Given the description of an element on the screen output the (x, y) to click on. 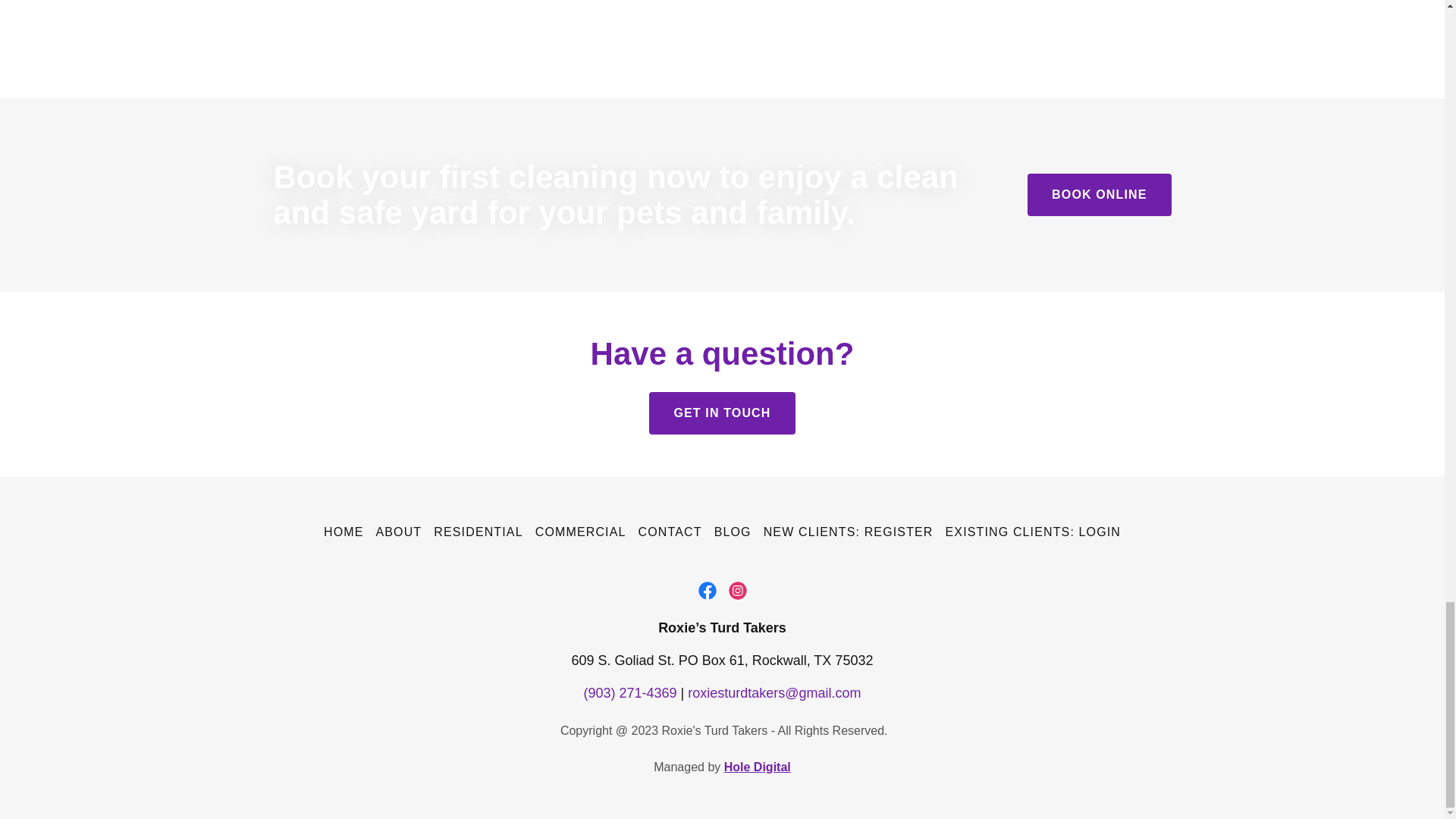
COMMERCIAL (580, 532)
BLOG (732, 532)
RESIDENTIAL (478, 532)
CONTACT (669, 532)
ABOUT (398, 532)
HOME (343, 532)
GET IN TOUCH (721, 413)
BOOK ONLINE (1098, 194)
